Given the description of an element on the screen output the (x, y) to click on. 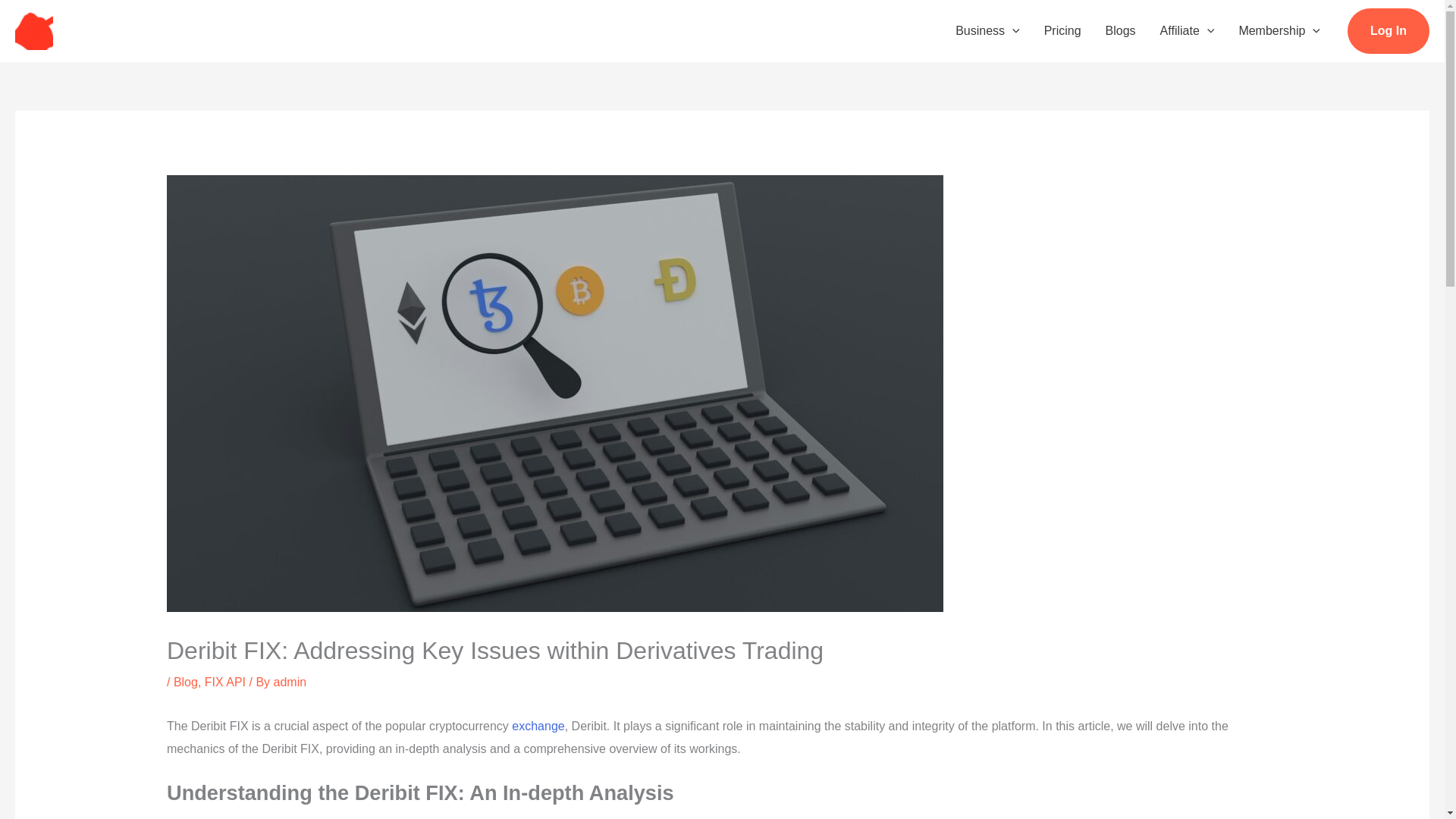
Affiliate (1187, 30)
Log In (1388, 31)
Business (987, 30)
exchange (538, 725)
Pricing (1062, 30)
View all posts by admin (290, 681)
Membership (1278, 30)
Blogs (1120, 30)
